Given the description of an element on the screen output the (x, y) to click on. 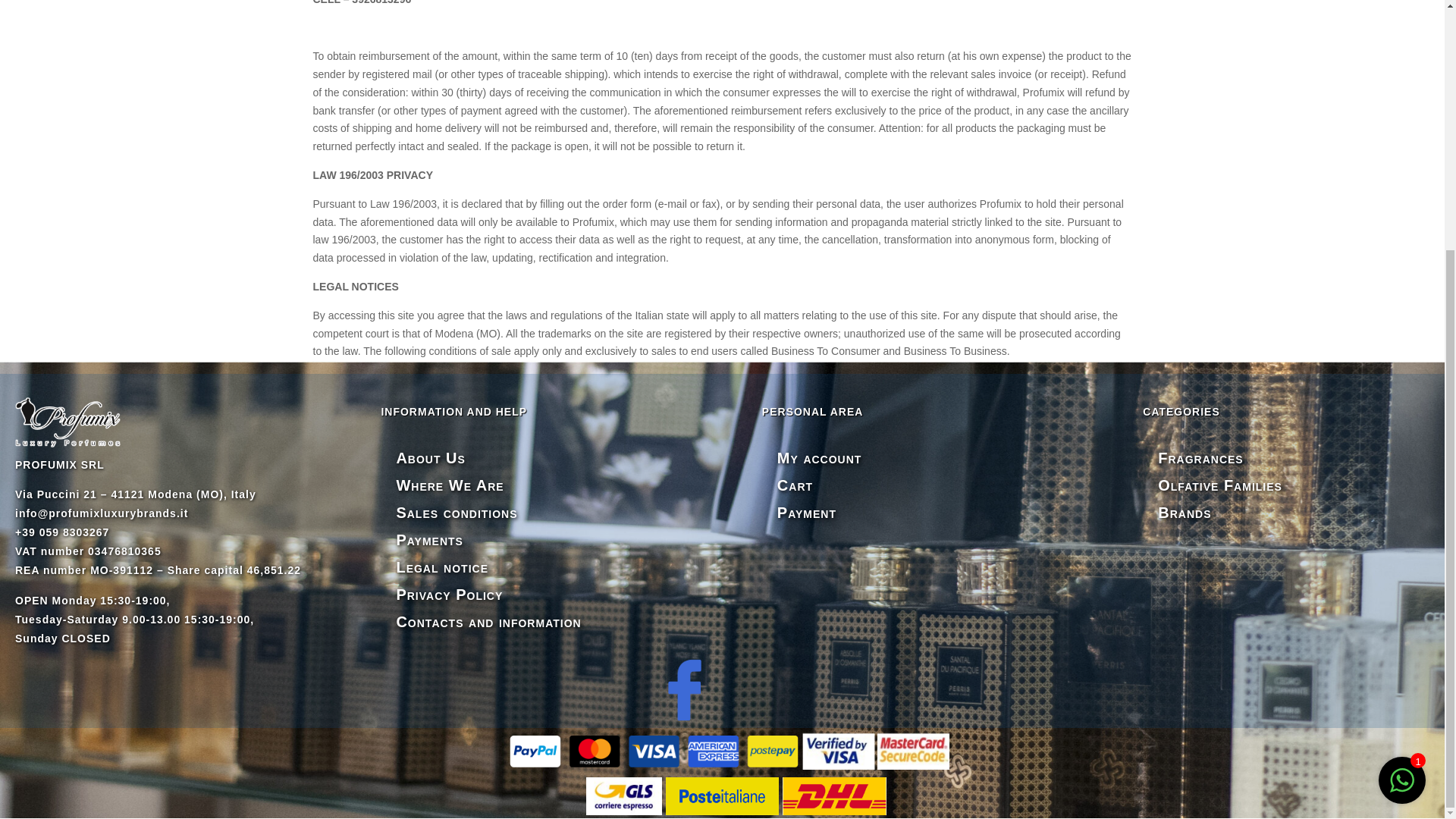
Profumix Luxury Perfumes (67, 421)
pagamenti-luxury (722, 750)
facebook (684, 689)
